Given the description of an element on the screen output the (x, y) to click on. 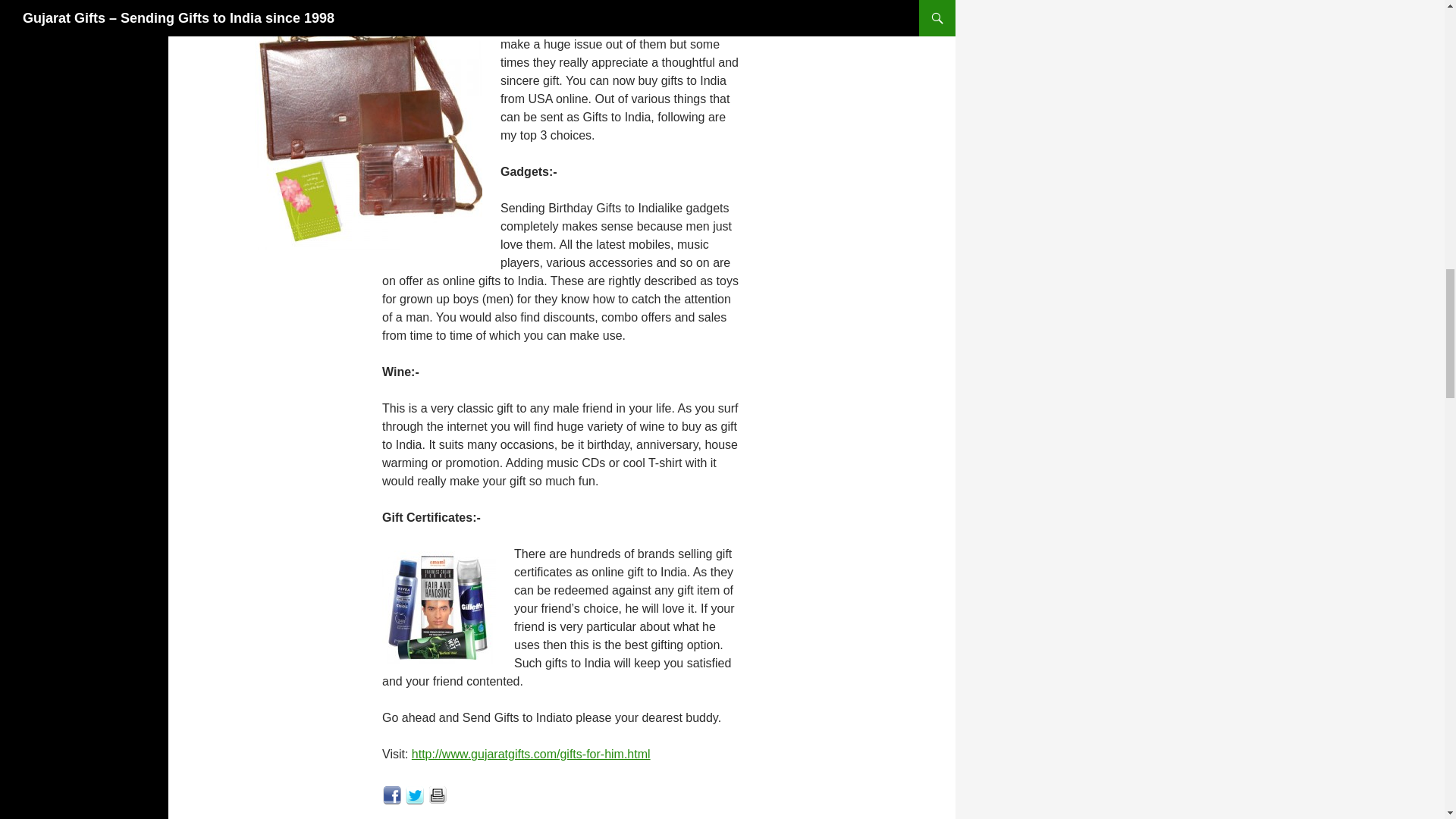
Online Gifts (438, 607)
Print this page (438, 793)
Gifts for Him (367, 136)
